Given the description of an element on the screen output the (x, y) to click on. 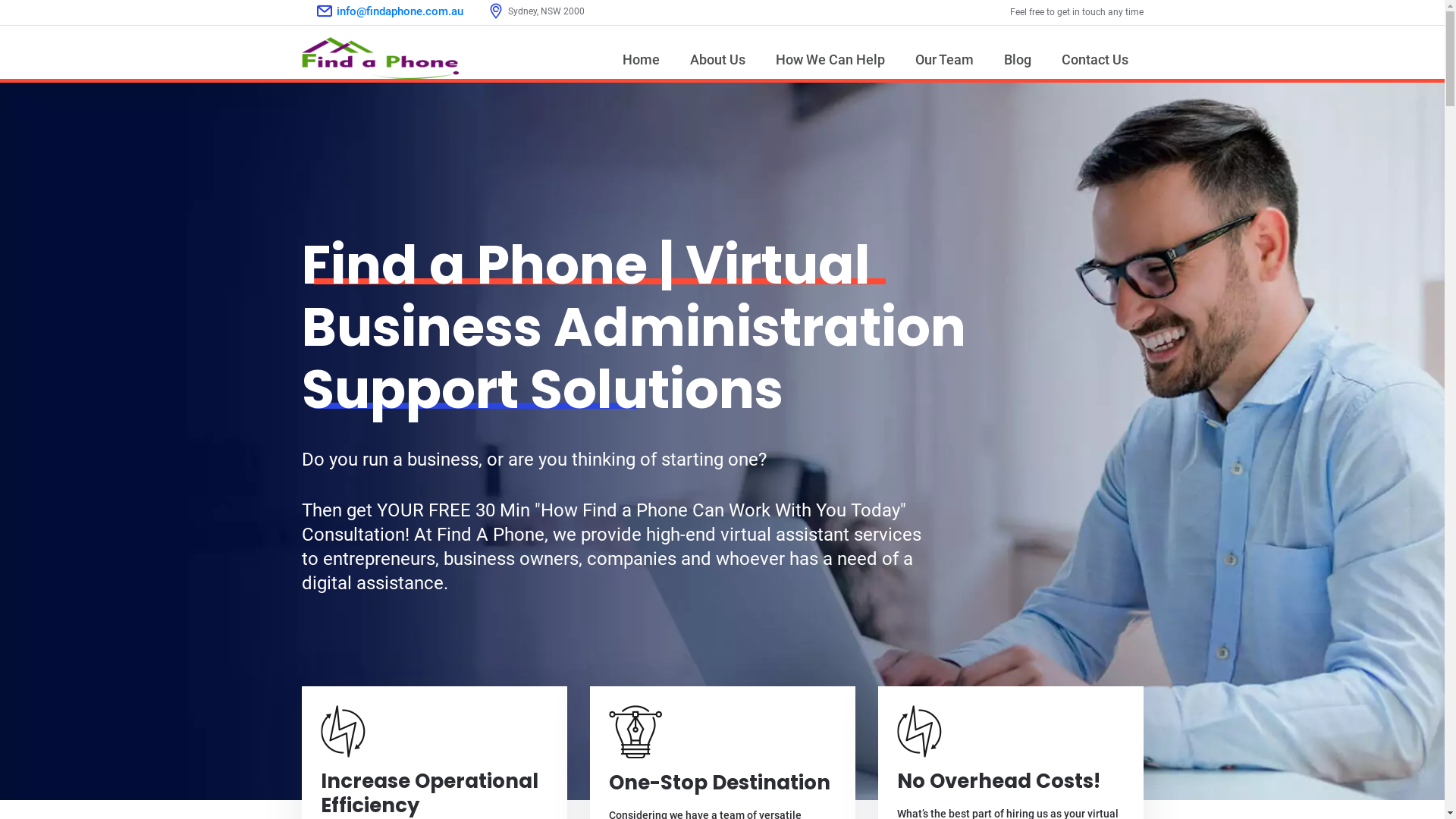
About Us Element type: text (717, 59)
info@findaphone.com.au Element type: text (399, 11)
Home Element type: text (640, 59)
Contact Us Element type: text (1094, 59)
Our Team Element type: text (943, 59)
How We Can Help Element type: text (829, 59)
Blog Element type: text (1017, 59)
